Given the description of an element on the screen output the (x, y) to click on. 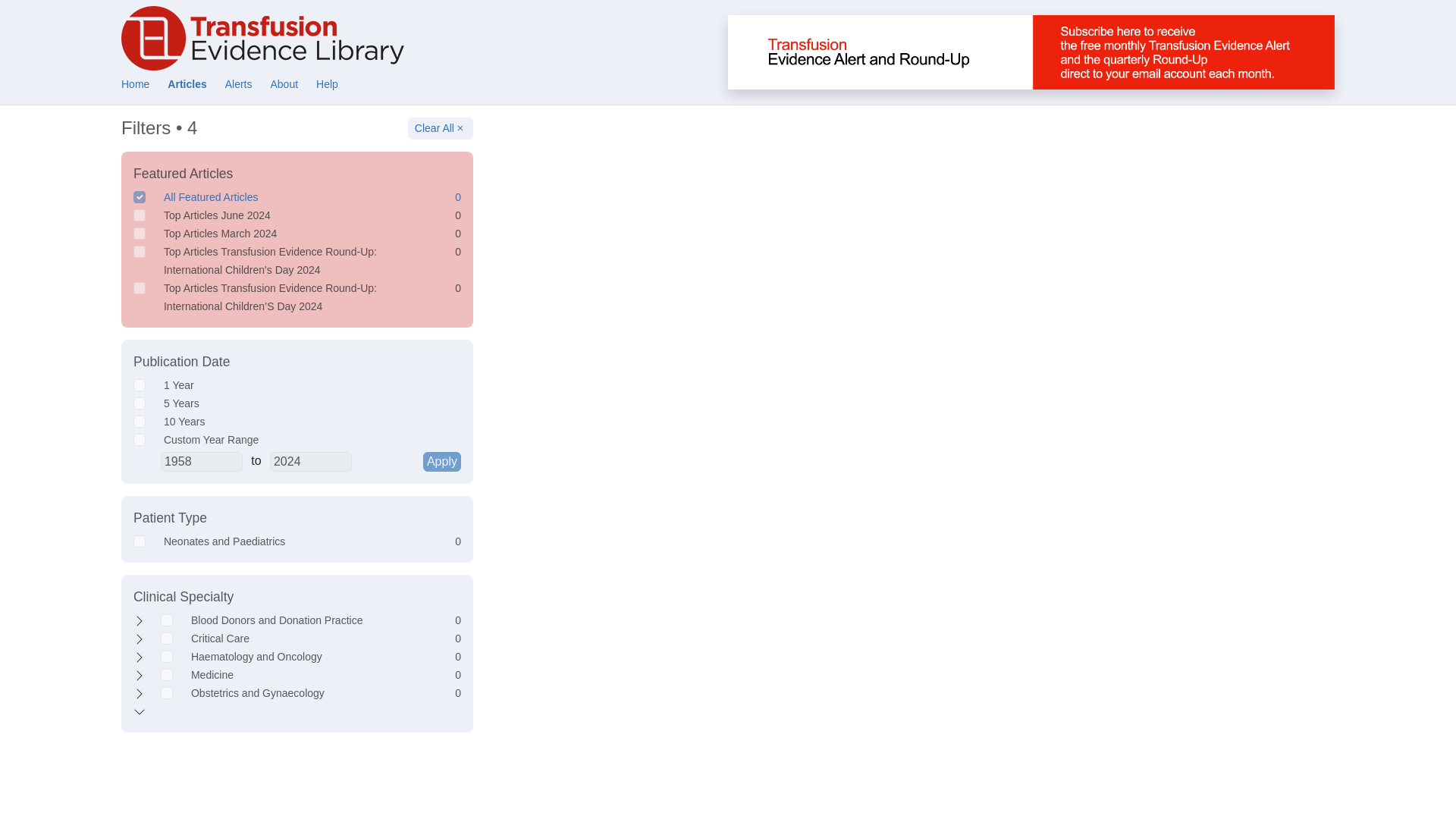
Articles (186, 84)
1 (139, 196)
1958 (201, 461)
1 (139, 403)
1 (139, 421)
1 (139, 215)
1 (139, 541)
About (283, 84)
1 (166, 620)
Apply (442, 461)
